Given the description of an element on the screen output the (x, y) to click on. 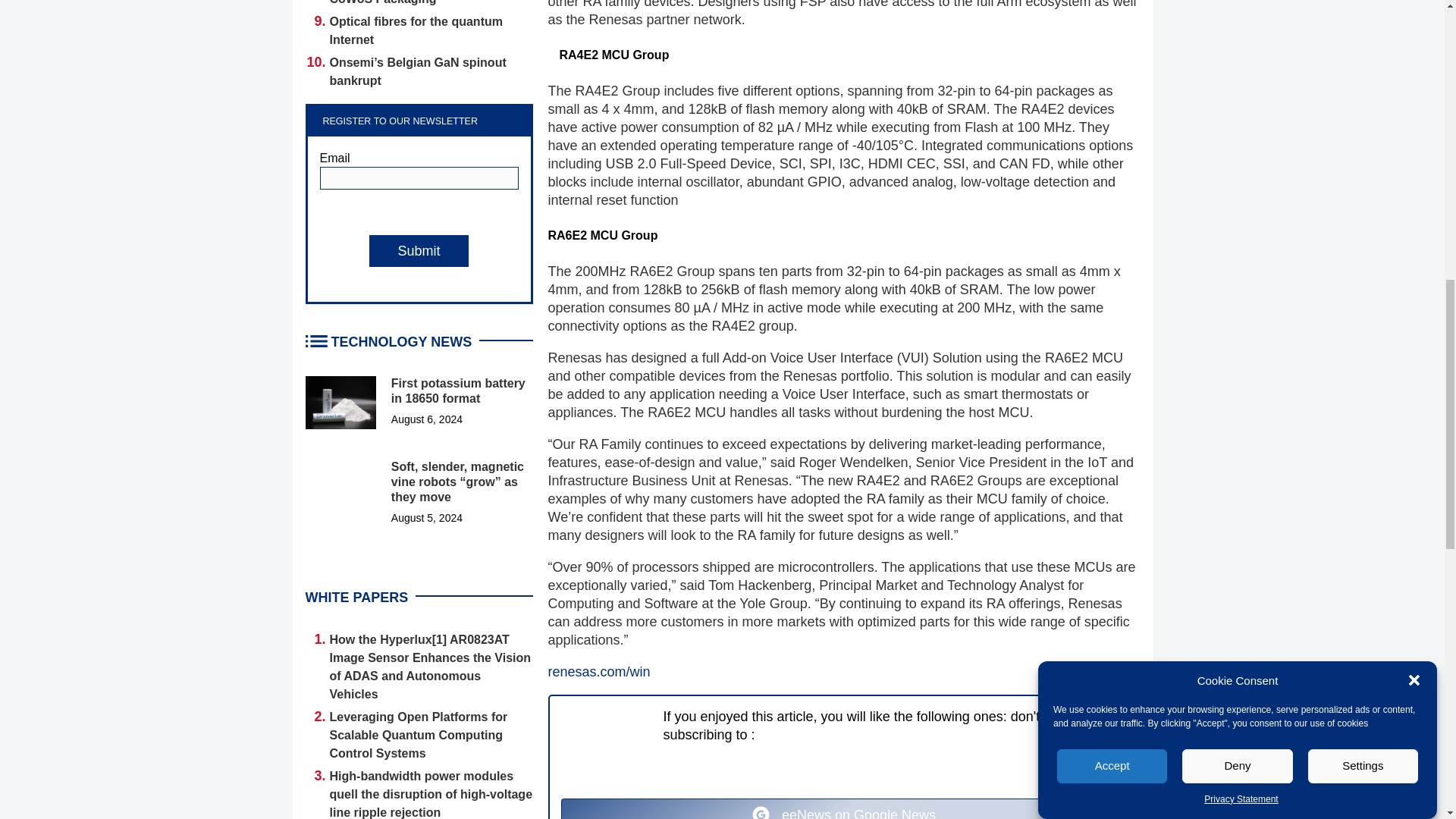
Settings (1362, 188)
Deny (1237, 220)
Submit (418, 250)
Privacy Statement (1241, 91)
Accept (1112, 251)
